Given the description of an element on the screen output the (x, y) to click on. 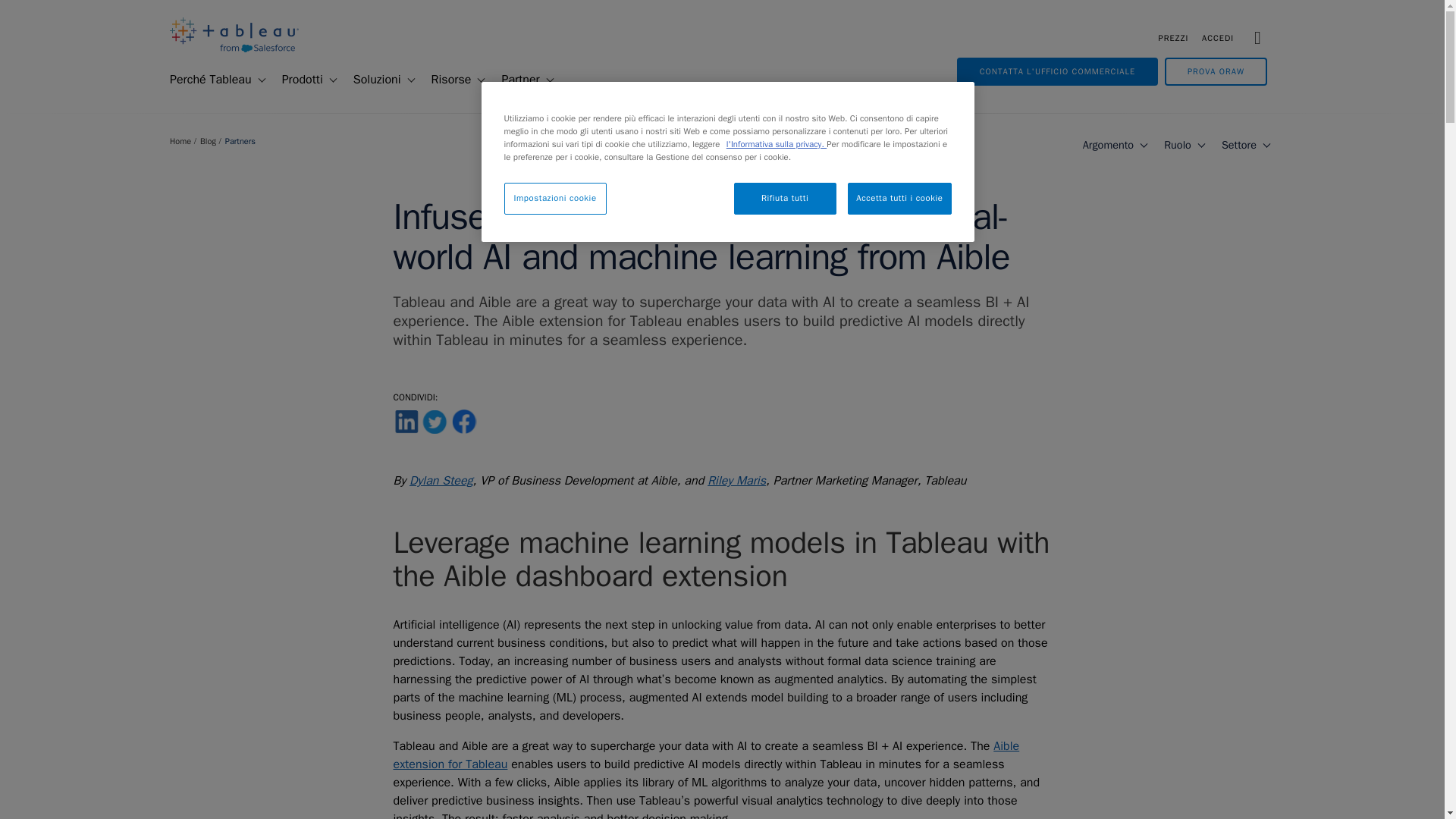
Prodotti (296, 79)
Torna alla pagina iniziale di Tableau Software (234, 48)
Soluzioni (370, 79)
